Given the description of an element on the screen output the (x, y) to click on. 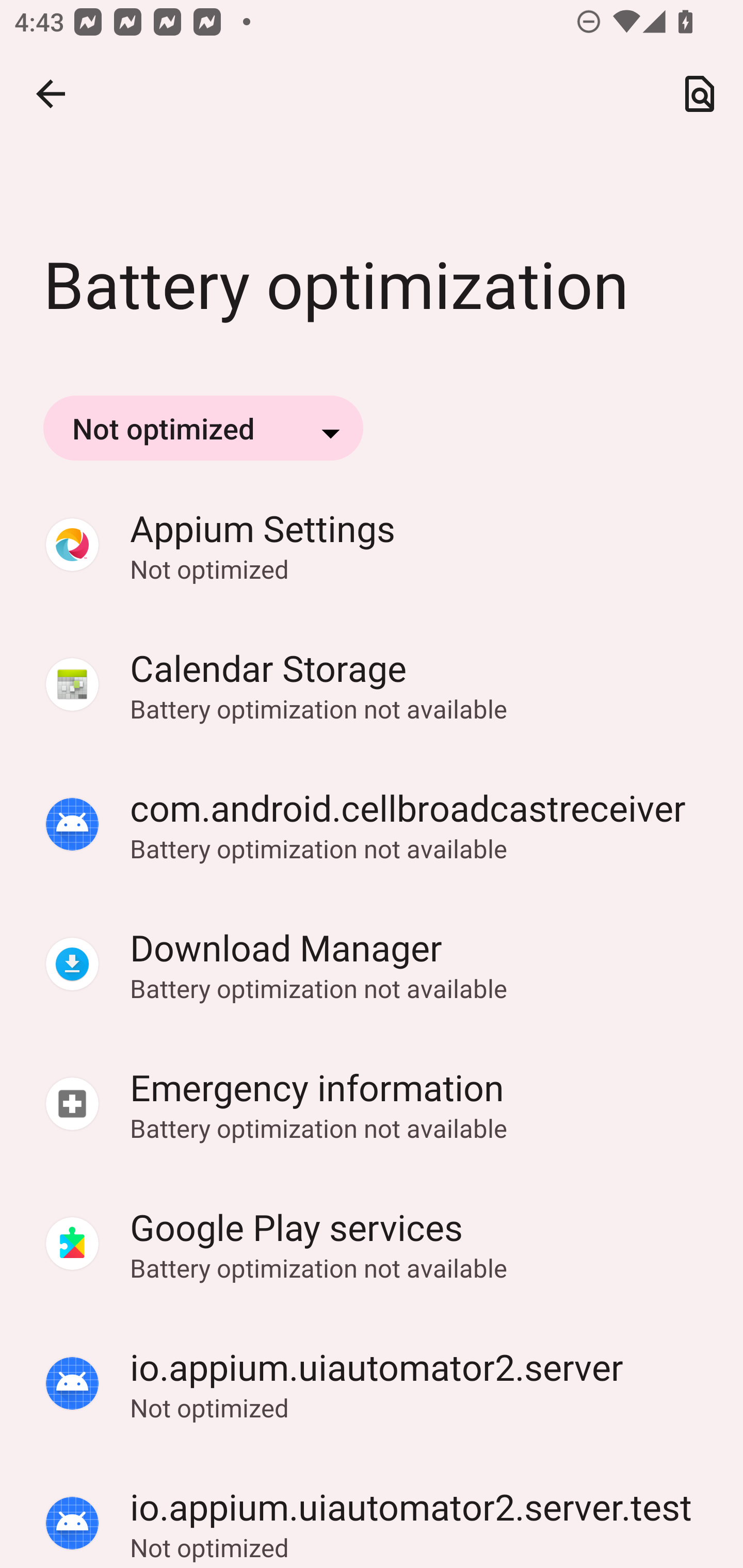
Navigate up (50, 93)
Search (699, 93)
Not optimized (203, 428)
Appium Settings Appium Settings Not optimized (371, 544)
